Given the description of an element on the screen output the (x, y) to click on. 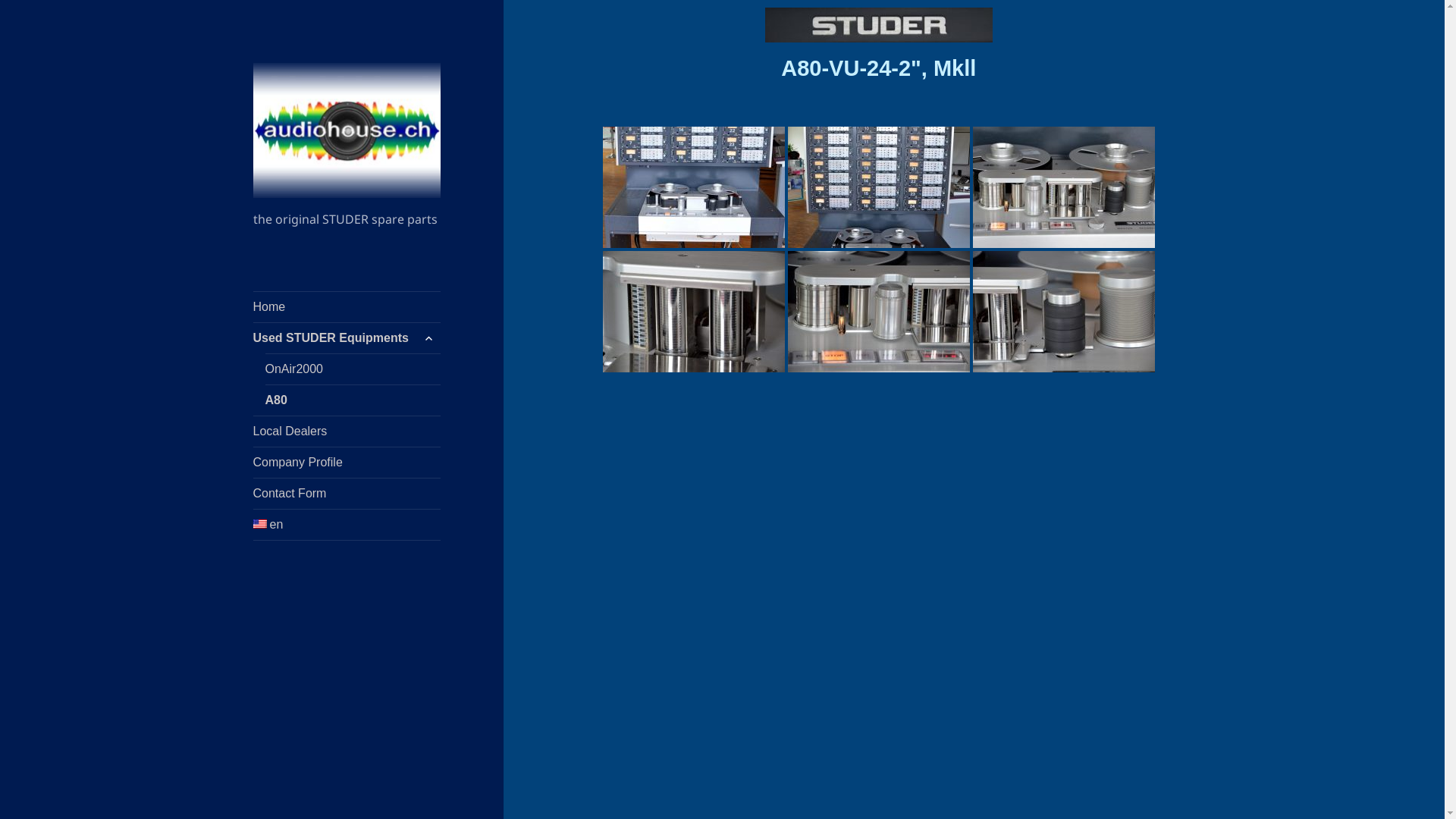
A80-VU-24-239-4-scaled Element type: hover (878, 311)
OnAir2000 Element type: text (353, 369)
A80-VU-24-239-1-scaled Element type: hover (693, 186)
Used STUDER Equipments Element type: text (347, 338)
Home Element type: text (347, 306)
en Element type: text (347, 524)
Contact Form Element type: text (347, 493)
Local Dealers Element type: text (347, 431)
A80-VU-24-239-6-scaled Element type: hover (1063, 311)
A80-VU-24-239-5-scaled Element type: hover (693, 311)
Company Profile Element type: text (347, 462)
A80-VU-24-239-2-scaled Element type: hover (878, 186)
A80 Element type: text (353, 400)
A80-VU-24-239-3-scaled Element type: hover (1063, 186)
